Given the description of an element on the screen output the (x, y) to click on. 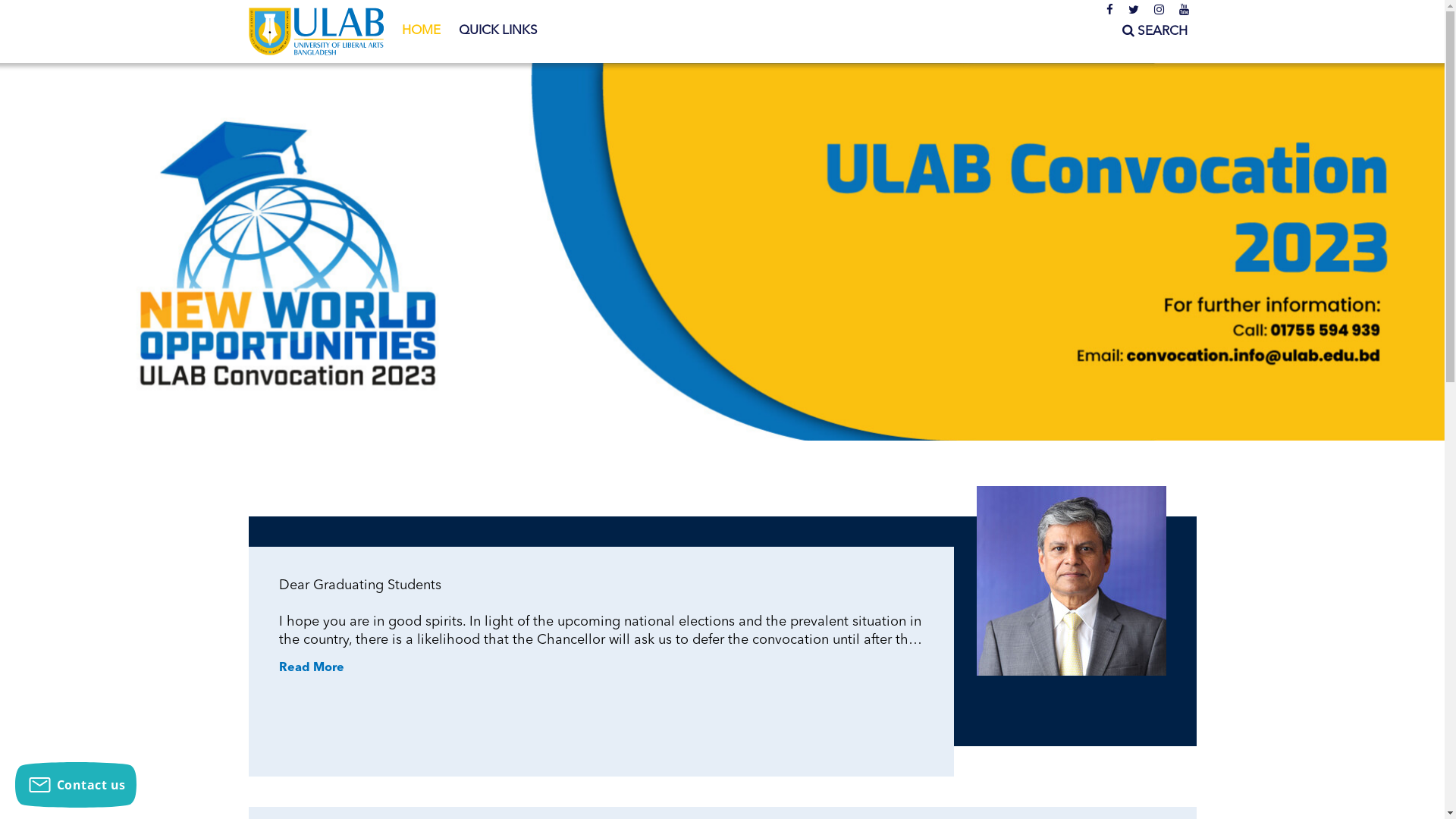
Contact us Element type: text (75, 784)
Read More Element type: text (311, 668)
SEARCH Element type: text (1154, 31)
HOME Element type: text (420, 30)
QUICK LINKS Element type: text (497, 30)
Skip to main content Element type: text (61, 0)
